Given the description of an element on the screen output the (x, y) to click on. 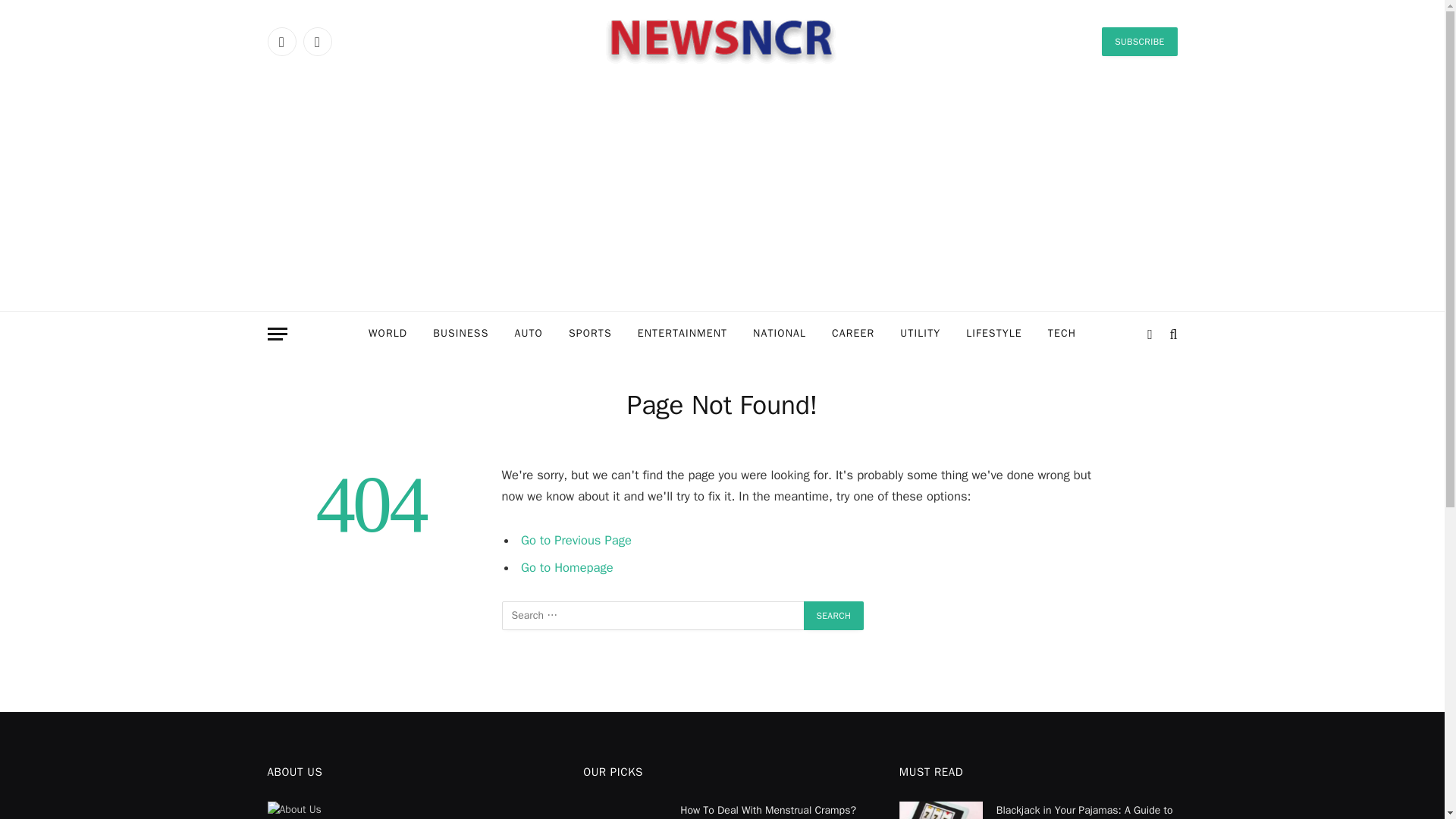
SPORTS (590, 334)
AUTO (528, 334)
CAREER (852, 334)
Facebook (280, 41)
TECH (1062, 334)
Blackjack in Your Pajamas: A Guide to Online Card Counting (940, 810)
Switch to Dark Design - easier on eyes. (1149, 334)
BUSINESS (460, 334)
How To Deal With Menstrual Cramps? (624, 810)
ENTERTAINMENT (681, 334)
NATIONAL (778, 334)
LIFESTYLE (994, 334)
SUBSCRIBE (1139, 41)
News NCR (722, 41)
